Given the description of an element on the screen output the (x, y) to click on. 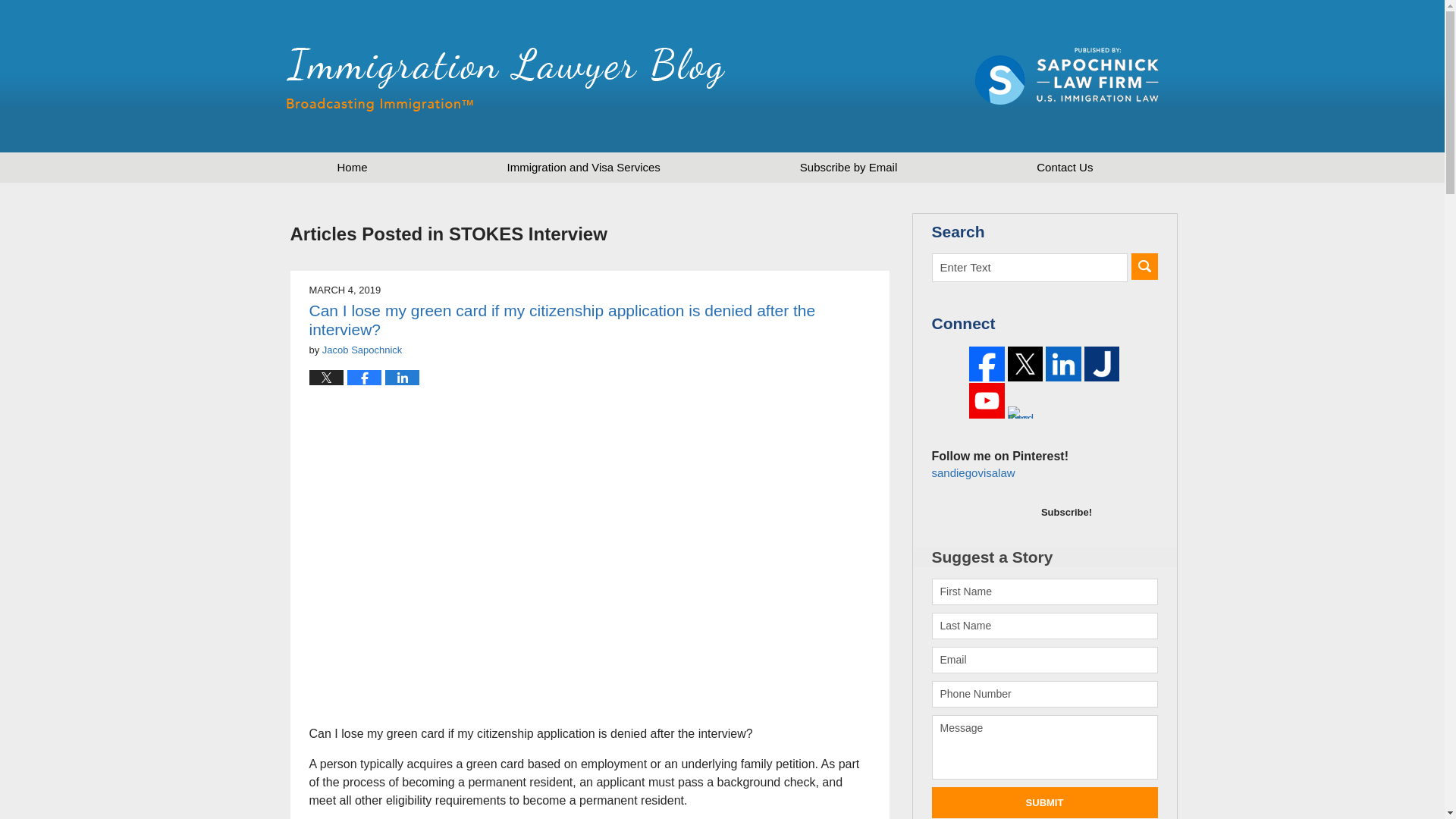
Jacob Sapochnick (362, 349)
Home (351, 167)
Contact Us (1063, 167)
Published by Sapochnick Law Firm (1066, 75)
Subscribe by Email (848, 167)
Immigration Lawyer Blog (505, 79)
Immigration and Visa Services (584, 167)
